Given the description of an element on the screen output the (x, y) to click on. 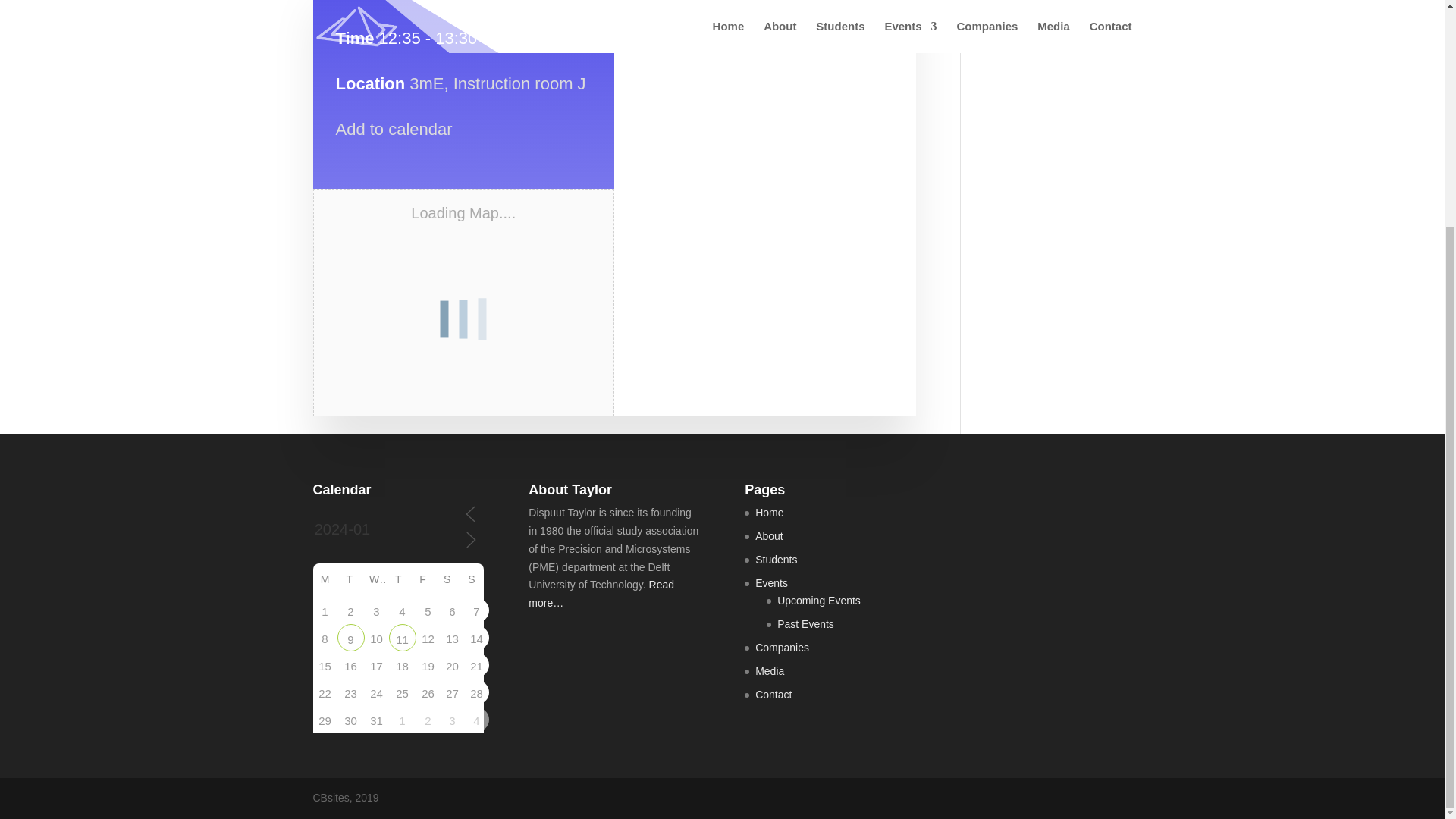
Settels Savenije lunch lecture (401, 637)
3mE, Instruction room J (497, 83)
Add to calendar (392, 128)
Hittech Company Visit (349, 637)
2024-01 (386, 529)
